Given the description of an element on the screen output the (x, y) to click on. 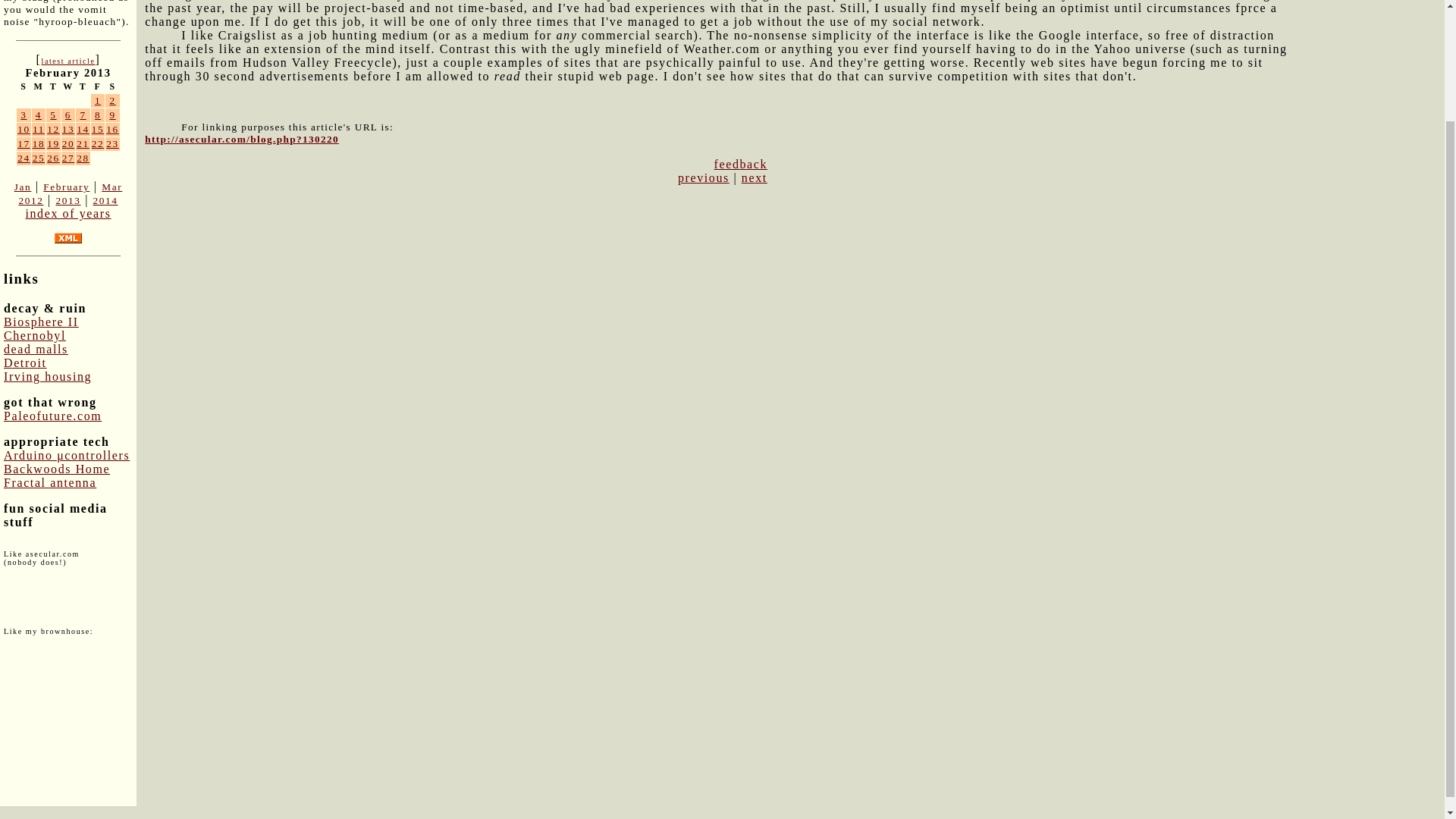
14 (82, 129)
22 (97, 143)
February (65, 186)
27 (68, 157)
index of years (67, 213)
13 (68, 129)
dead malls (36, 349)
21 (82, 143)
Mar (111, 186)
2014 (105, 200)
